Given the description of an element on the screen output the (x, y) to click on. 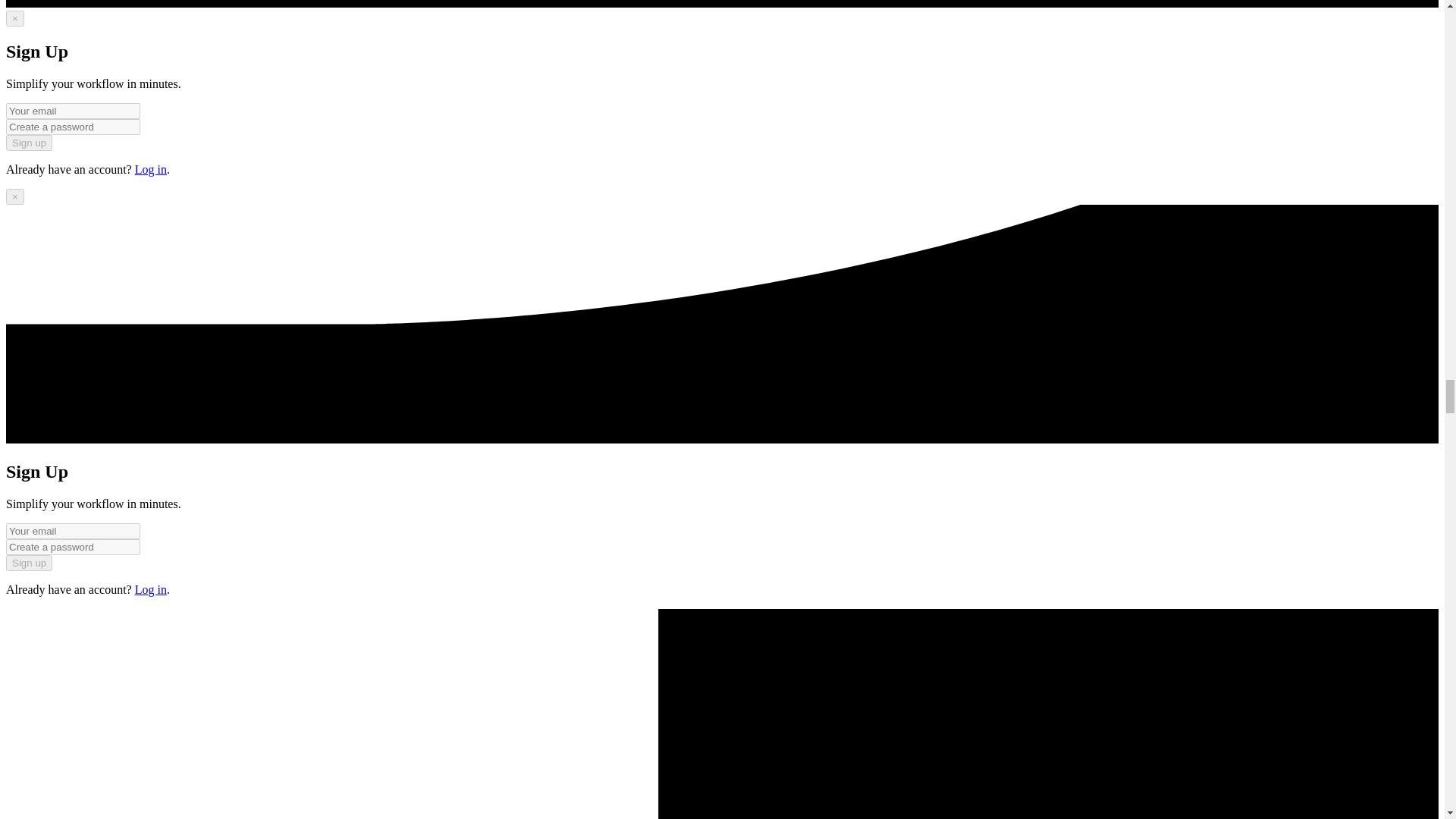
Sign up (28, 562)
Sign up (28, 142)
Log in (151, 589)
Log in (151, 169)
